Given the description of an element on the screen output the (x, y) to click on. 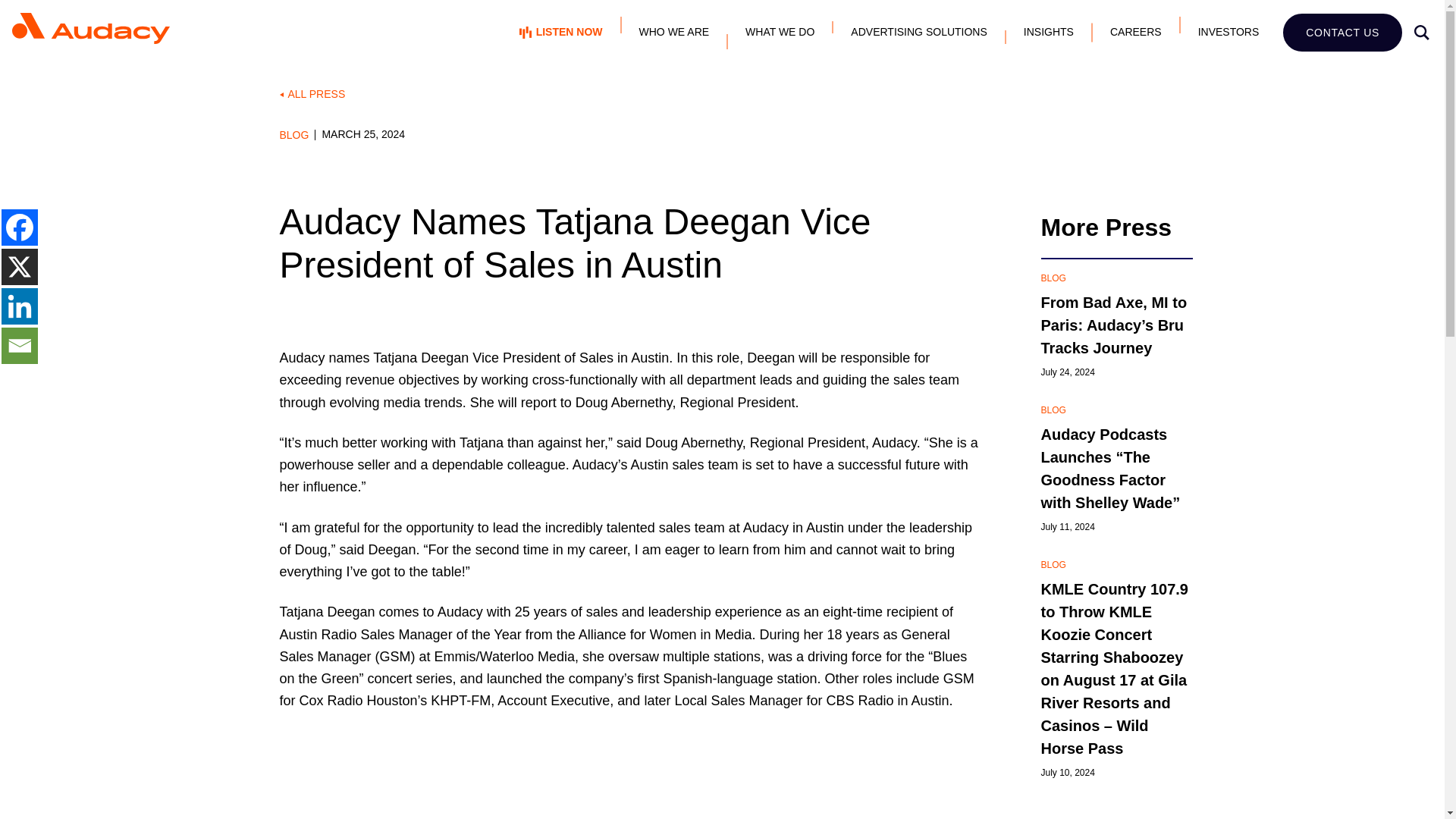
CONTACT US (1342, 32)
ADVERTISING SOLUTIONS (918, 32)
INSIGHTS (1049, 32)
ALL PRESS (721, 94)
X (19, 266)
Linkedin (19, 306)
WHAT WE DO (779, 32)
BLOG (1116, 278)
WHO WE ARE (674, 32)
BLOG (1116, 409)
LISTEN NOW (560, 32)
BLOG (1116, 564)
Email (19, 345)
INVESTORS (1228, 32)
Facebook (19, 227)
